Given the description of an element on the screen output the (x, y) to click on. 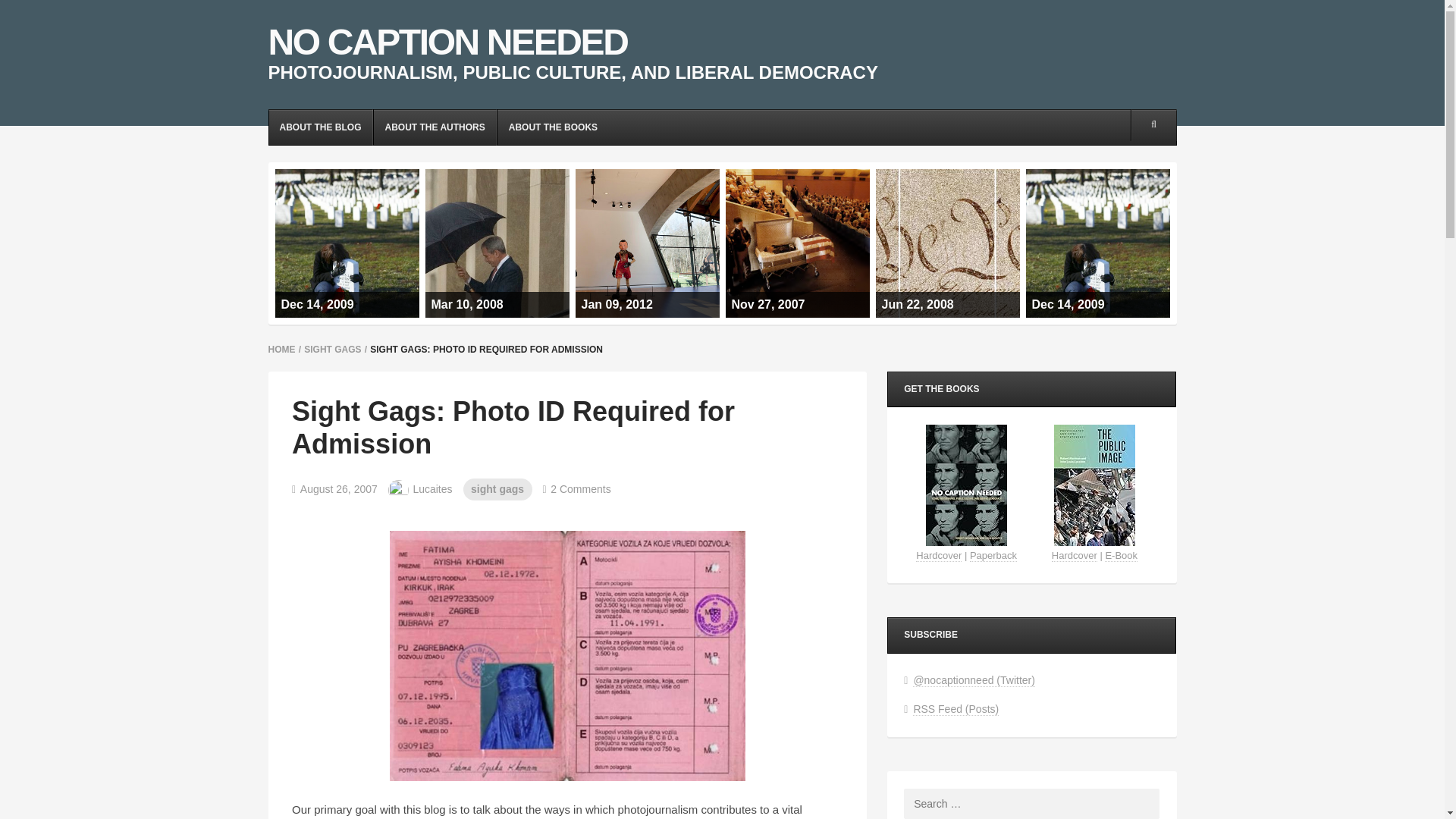
View all posts in sight gags (497, 489)
ABOUT THE AUTHORS (434, 126)
2 Comments (577, 488)
Lucaites (420, 489)
HOME (281, 348)
Jan 09, 2012 (647, 242)
Dec 14, 2009 (1097, 242)
ABOUT THE BOOKS (552, 126)
Jun 22, 2008 (947, 242)
Hardcover (937, 555)
badimmigrationpolicy.jpg (567, 654)
sight gags (497, 489)
Dec 14, 2009 (347, 242)
NO CAPTION NEEDED (447, 42)
Nov 27, 2007 (797, 242)
